Given the description of an element on the screen output the (x, y) to click on. 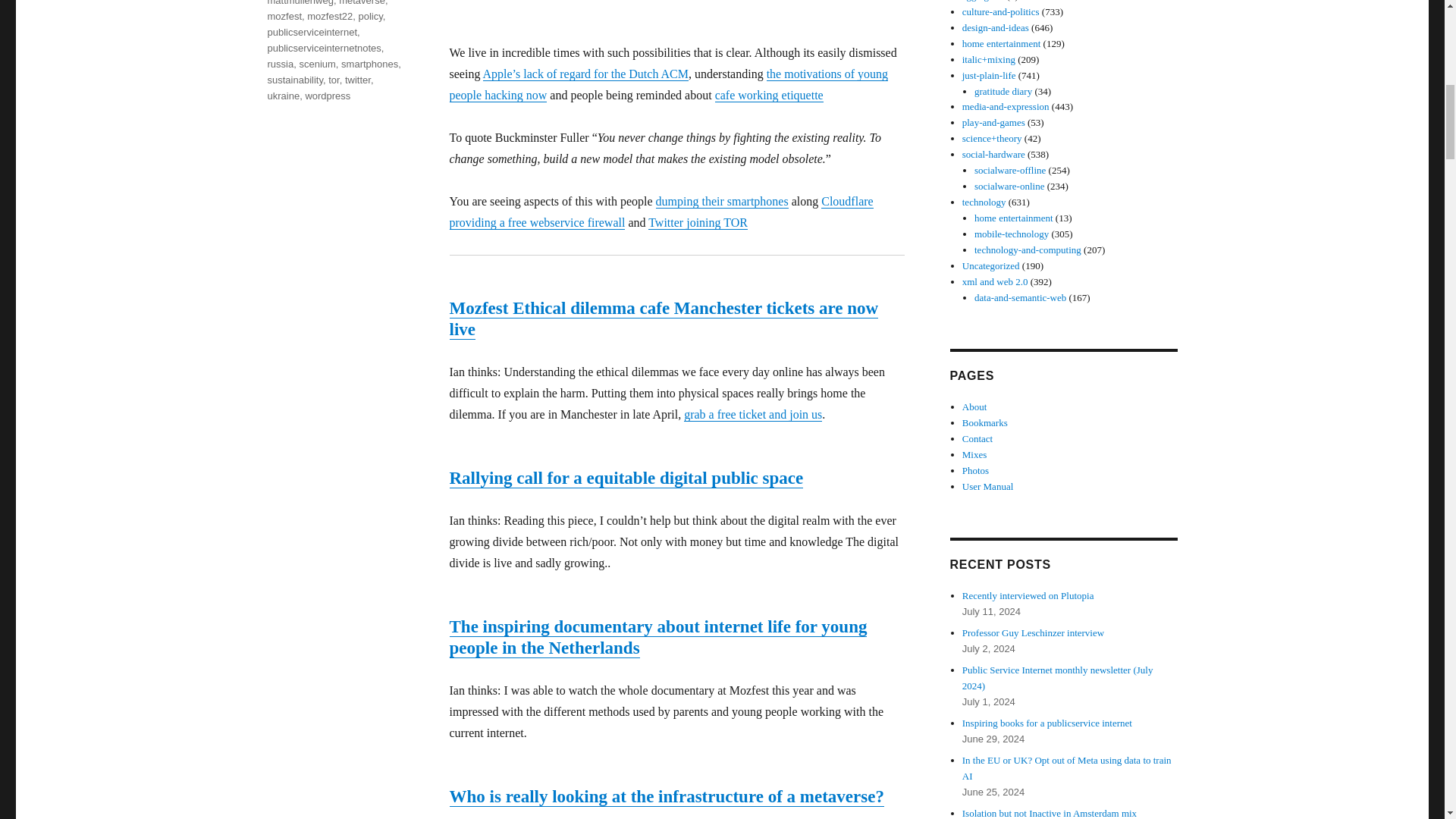
grab a free ticket and join us (753, 413)
Who is really looking at the infrastructure of a metaverse? (665, 796)
Rallying call for a equitable digital public space (625, 477)
Mozfest Ethical dilemma cafe Manchester tickets are now live (662, 318)
the motivations of young people hacking now (668, 84)
dumping their smartphones (722, 201)
Twitter joining TOR (697, 222)
Cloudflare providing a free webservice firewall (660, 211)
cafe working etiquette (769, 94)
